Given the description of an element on the screen output the (x, y) to click on. 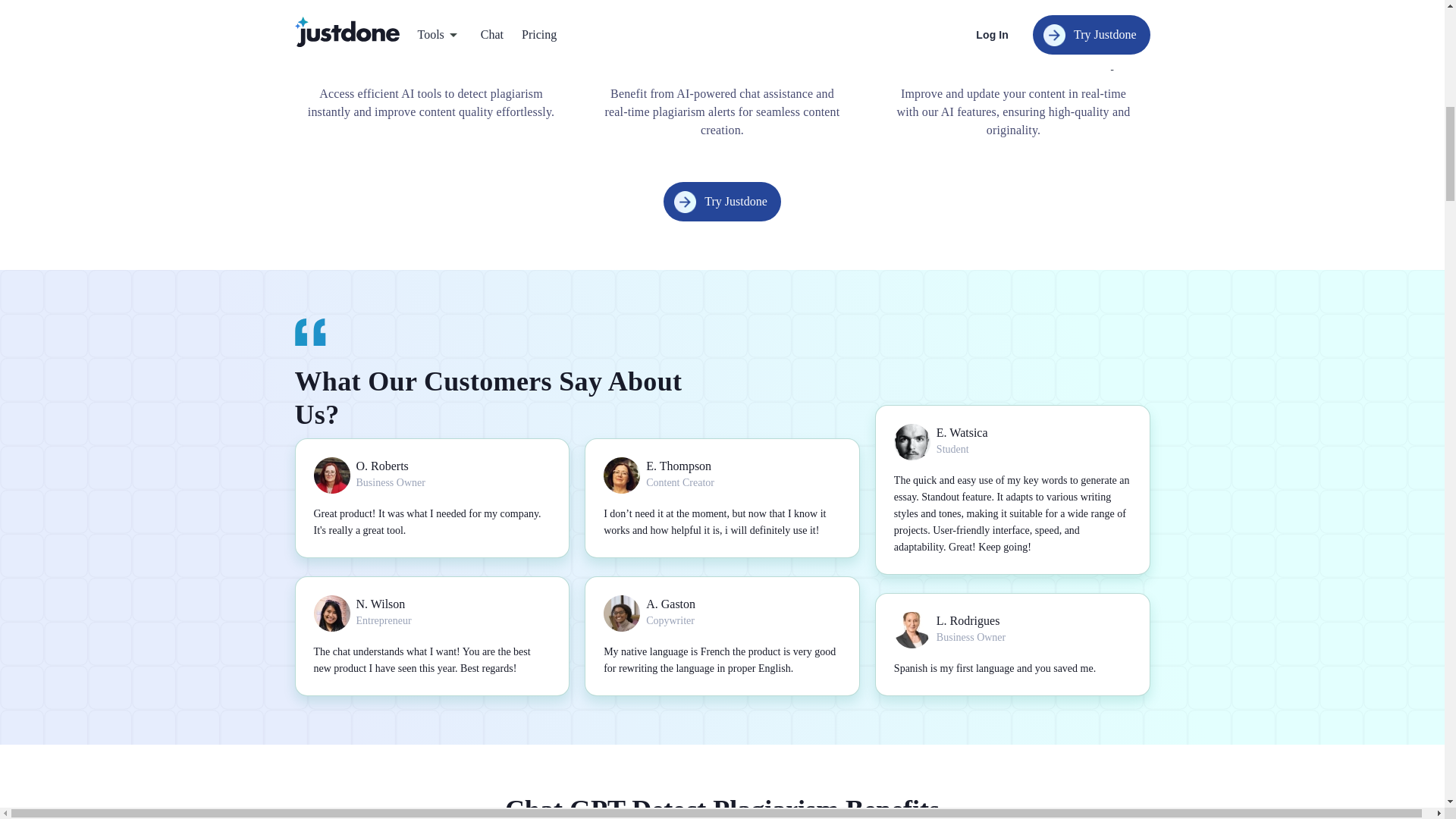
Try Justdone (721, 201)
